Given the description of an element on the screen output the (x, y) to click on. 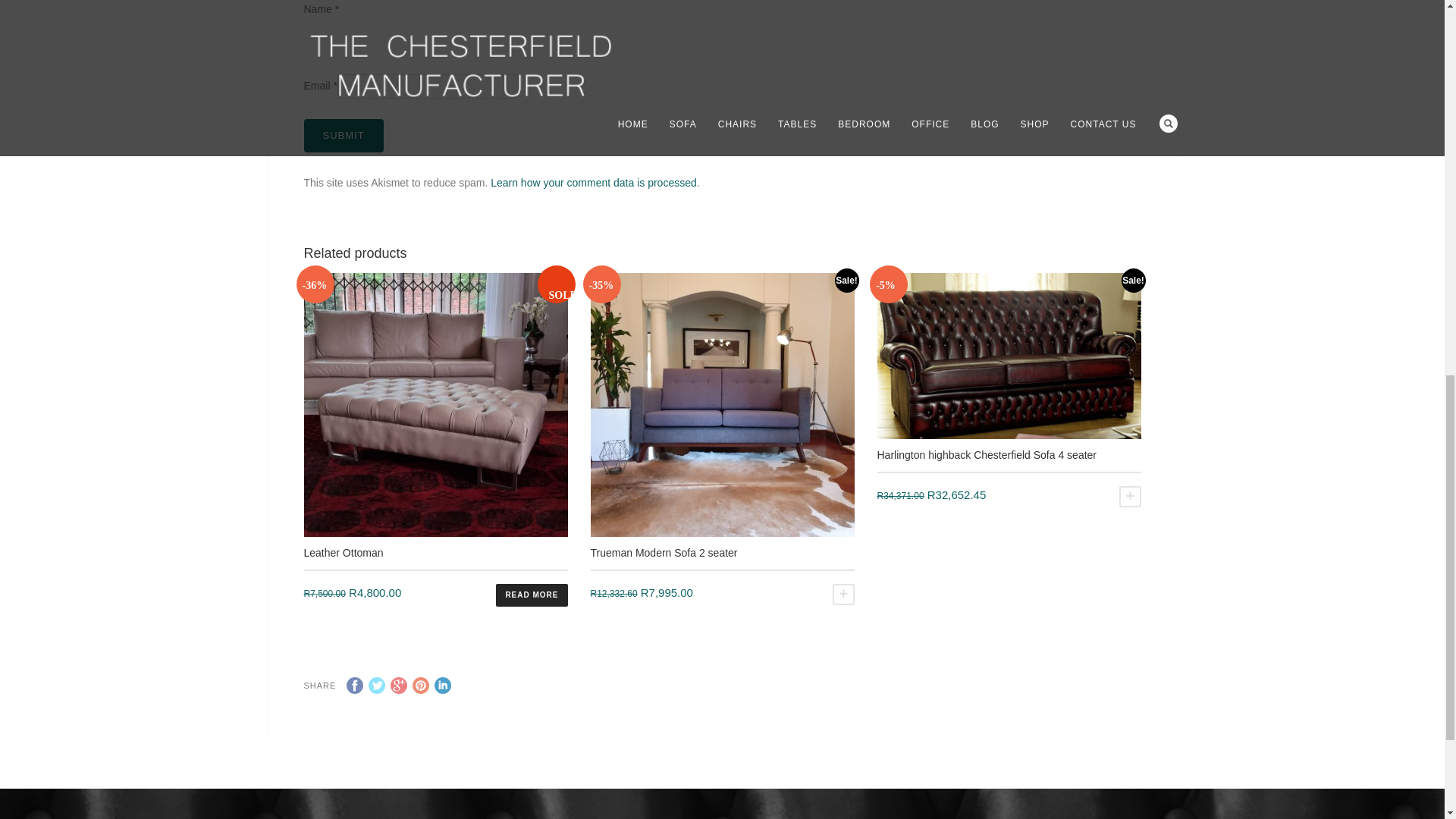
LinkedIn (442, 685)
Submit (342, 135)
Facebook (354, 685)
Pinterest (420, 685)
Twitter (376, 685)
